Given the description of an element on the screen output the (x, y) to click on. 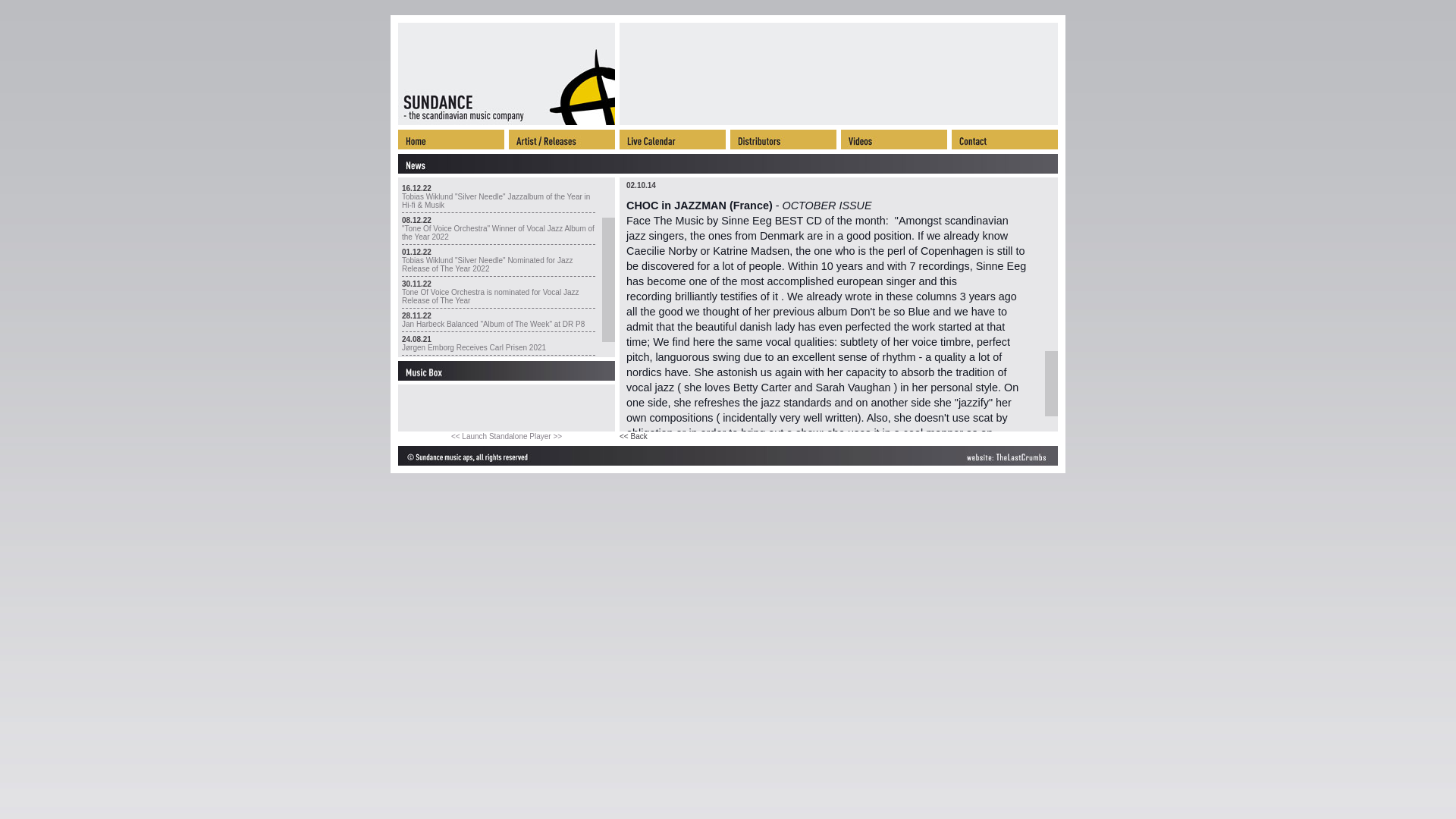
DMA 2015 Nominations (441, 545)
Winners at Danish Music Awards Jazz 2017 (474, 434)
New video from Kira: Idea of Love (458, 805)
STARS on THE CABIN PROJECT (458, 671)
Sinne Eeg's "Face the Music" won at DMA (472, 623)
